Given the description of an element on the screen output the (x, y) to click on. 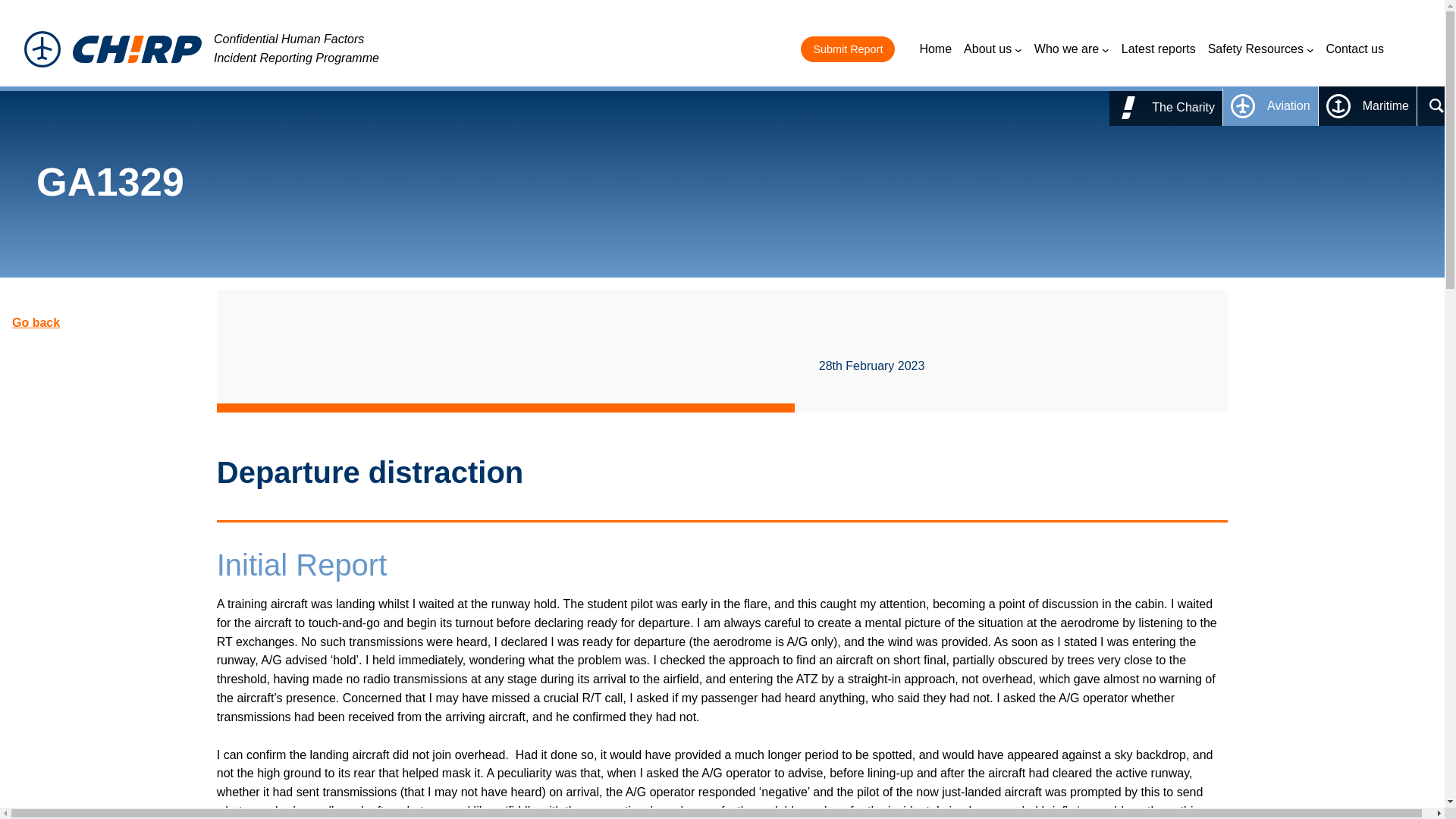
Latest reports (1158, 49)
About us (992, 49)
Safety Resources (1261, 49)
Who we are (1071, 49)
Submit Report (847, 49)
Contact us (1355, 49)
Home (935, 49)
